Given the description of an element on the screen output the (x, y) to click on. 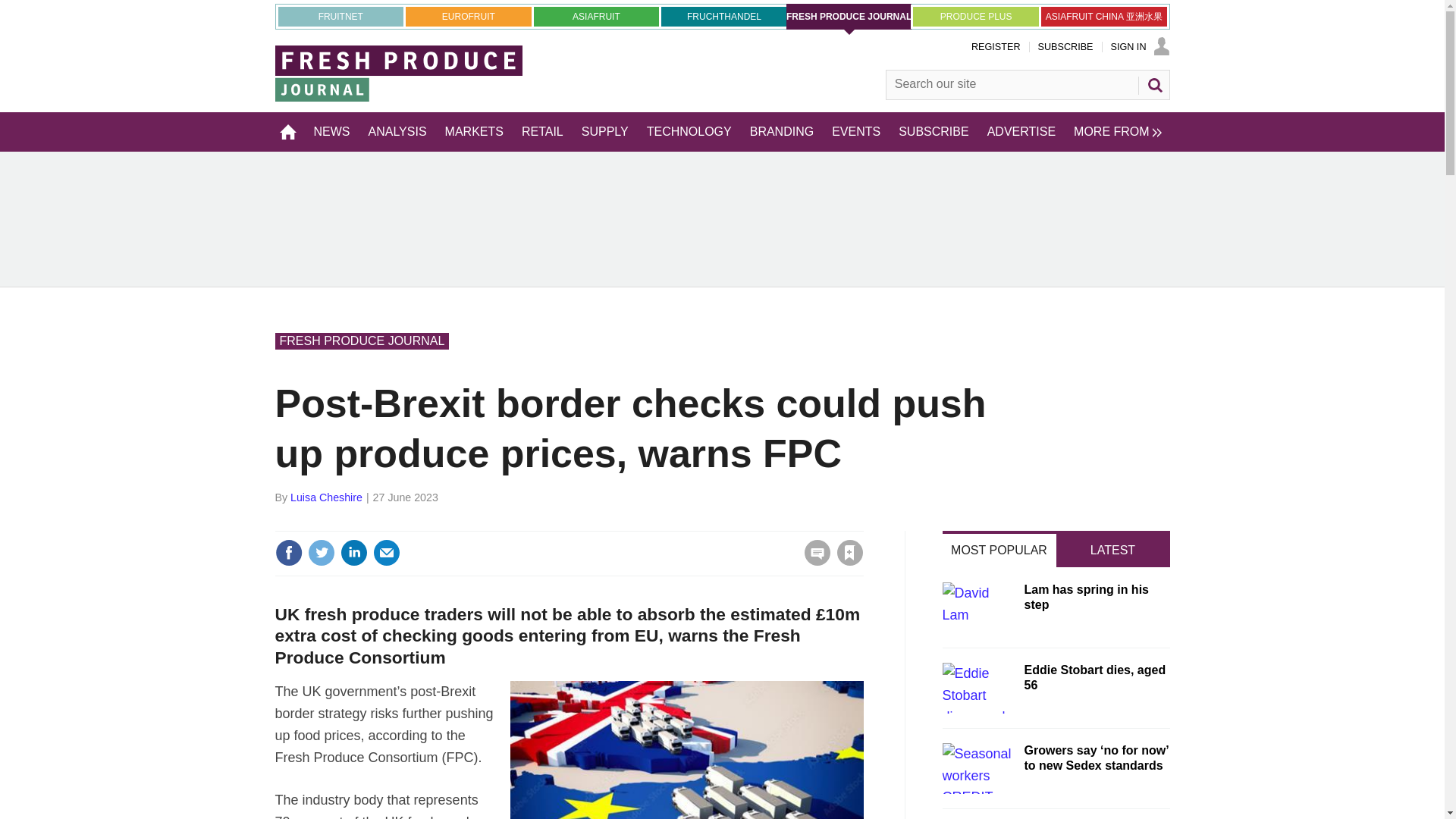
Share this on Twitter (320, 552)
Share this on Facebook (288, 552)
REGISTER (995, 46)
PRODUCE PLUS (975, 16)
FRESH PRODUCE JOURNAL (849, 16)
No comments (812, 561)
Email this article (386, 552)
NEWS (331, 131)
FRUITNET (340, 16)
SUBSCRIBE (1065, 46)
EUROFRUIT (468, 16)
SEARCH (1153, 84)
ANALYSIS (397, 131)
FRUCHTHANDEL (724, 16)
SIGN IN (1139, 46)
